Given the description of an element on the screen output the (x, y) to click on. 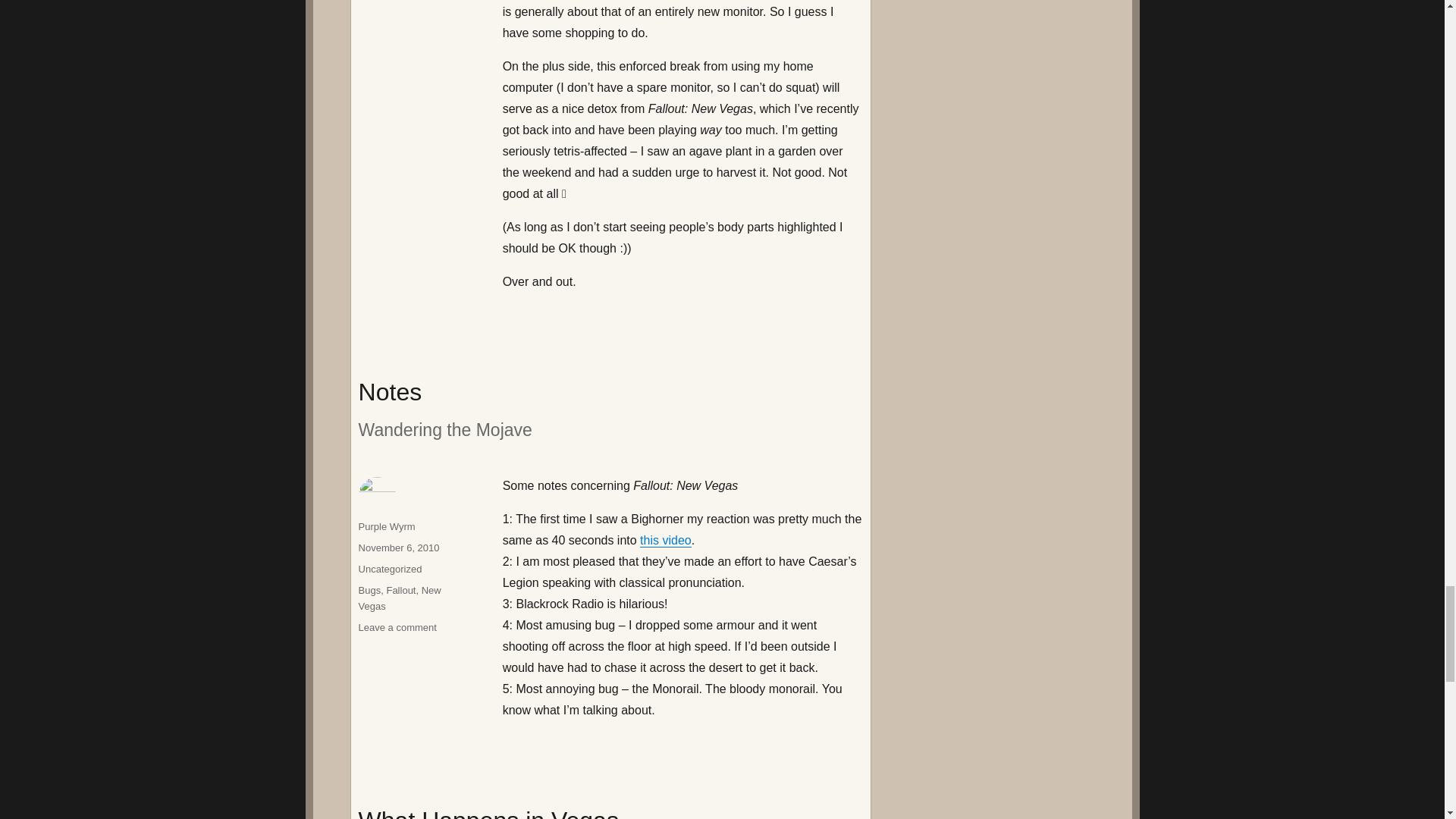
Ali G in da Countryside (665, 540)
